Given the description of an element on the screen output the (x, y) to click on. 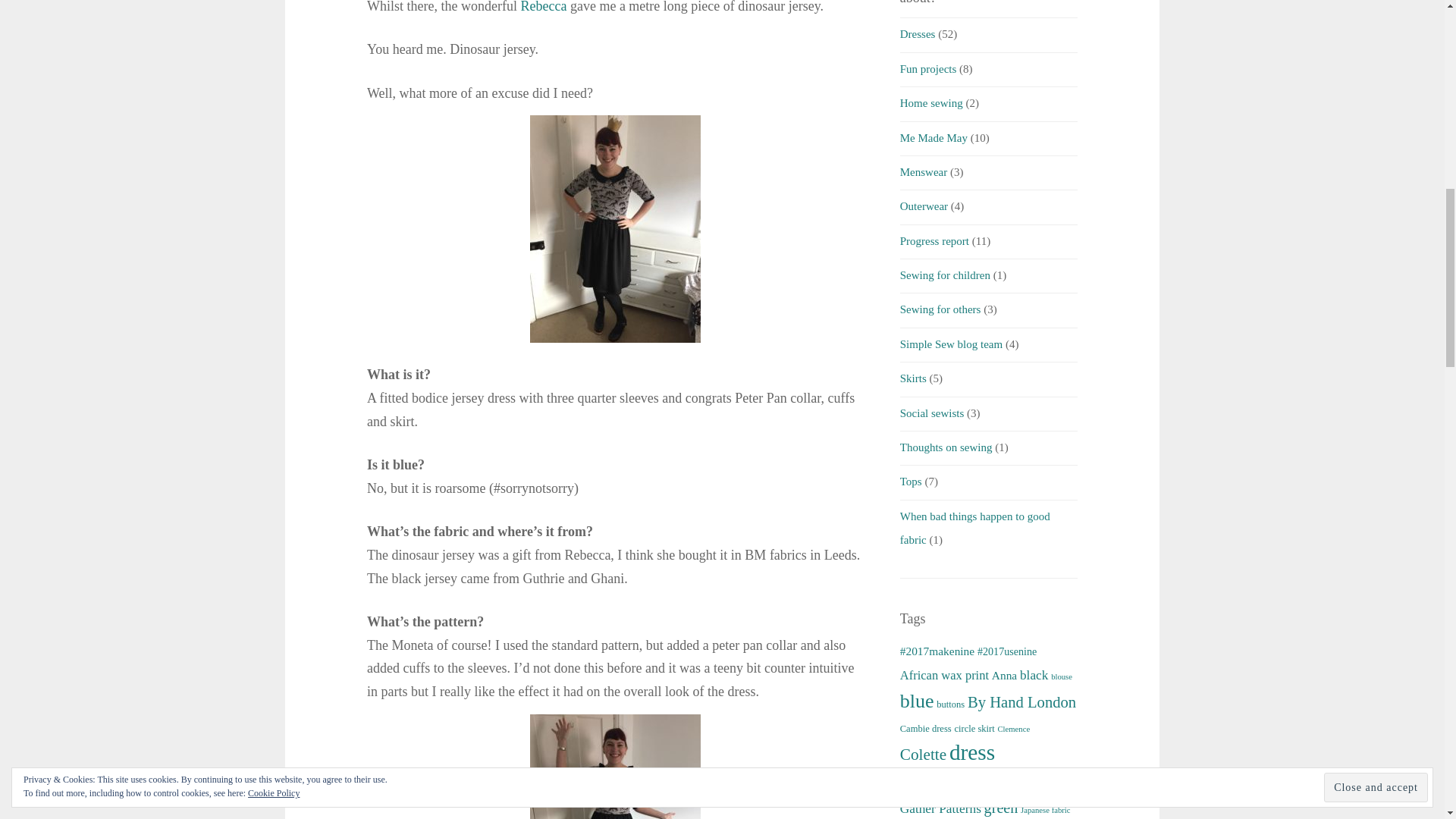
Fun projects (927, 69)
Home sewing (930, 102)
Me Made May (933, 137)
Rebecca (542, 6)
Dresses (917, 33)
